Given the description of an element on the screen output the (x, y) to click on. 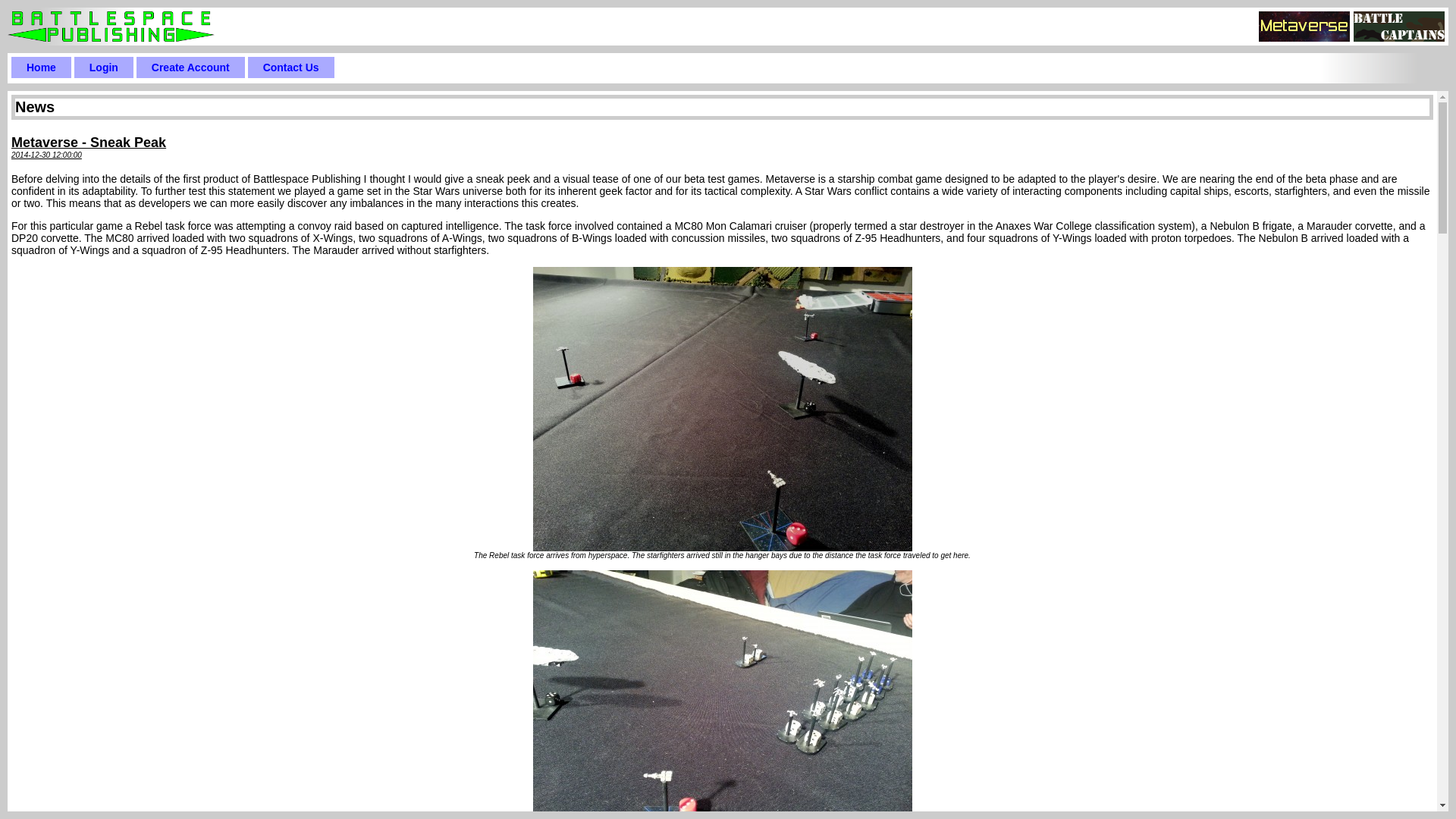
Contact Us Element type: text (290, 67)
Login Element type: text (103, 67)
Home Element type: text (41, 67)
Create Account Element type: text (190, 67)
